Given the description of an element on the screen output the (x, y) to click on. 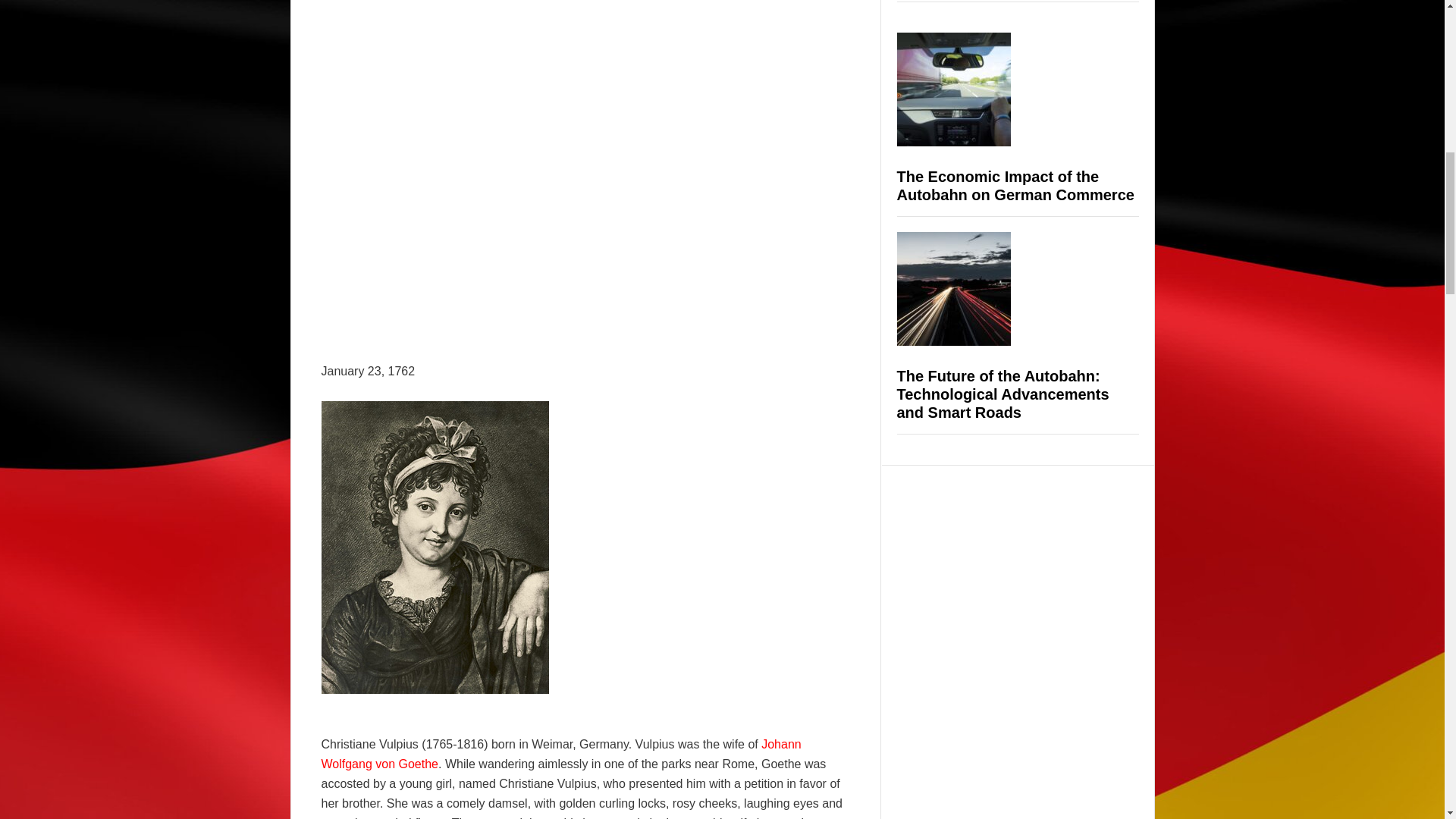
Johann Wolfgang von Goethe (561, 753)
Advertisement (448, 249)
